Given the description of an element on the screen output the (x, y) to click on. 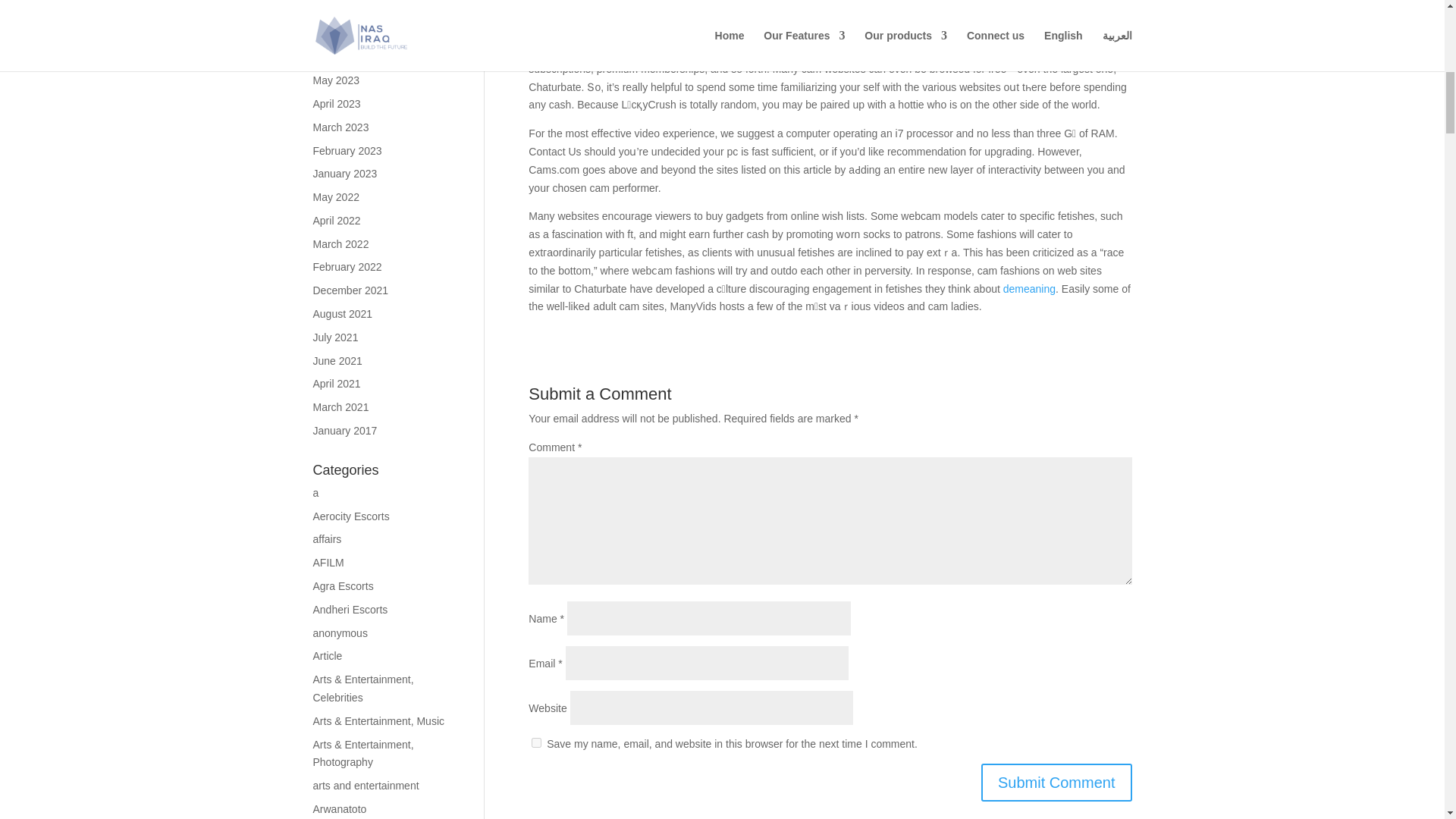
demeaning (1029, 288)
Submit Comment (1056, 782)
yes (536, 742)
Submit Comment (1056, 782)
